Given the description of an element on the screen output the (x, y) to click on. 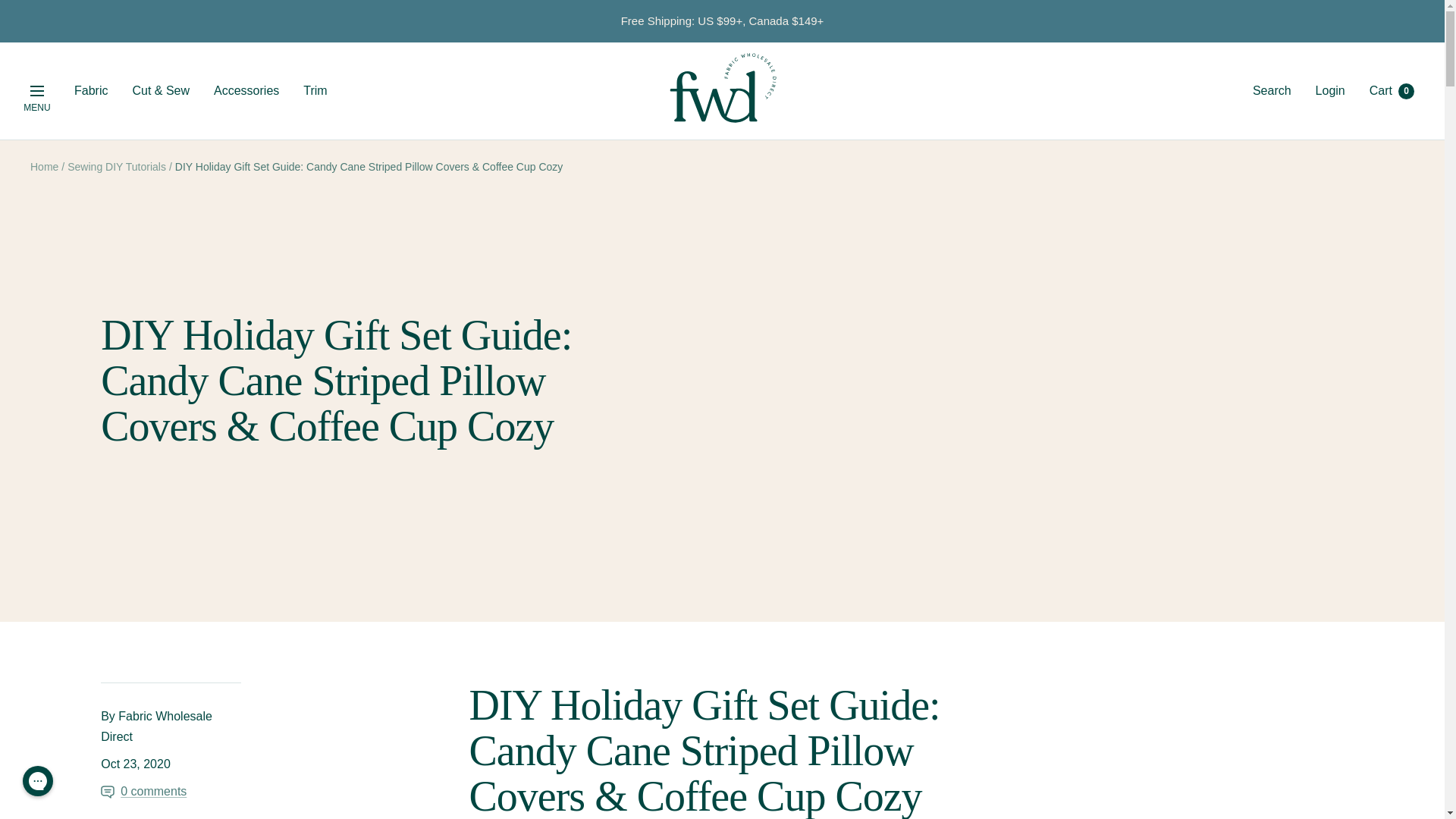
Trim (314, 90)
Sewing DIY Tutorials (115, 166)
Fabric (90, 90)
Search (1271, 90)
Login (1330, 90)
Home (44, 166)
Accessories (36, 90)
0 comments (246, 90)
